Given the description of an element on the screen output the (x, y) to click on. 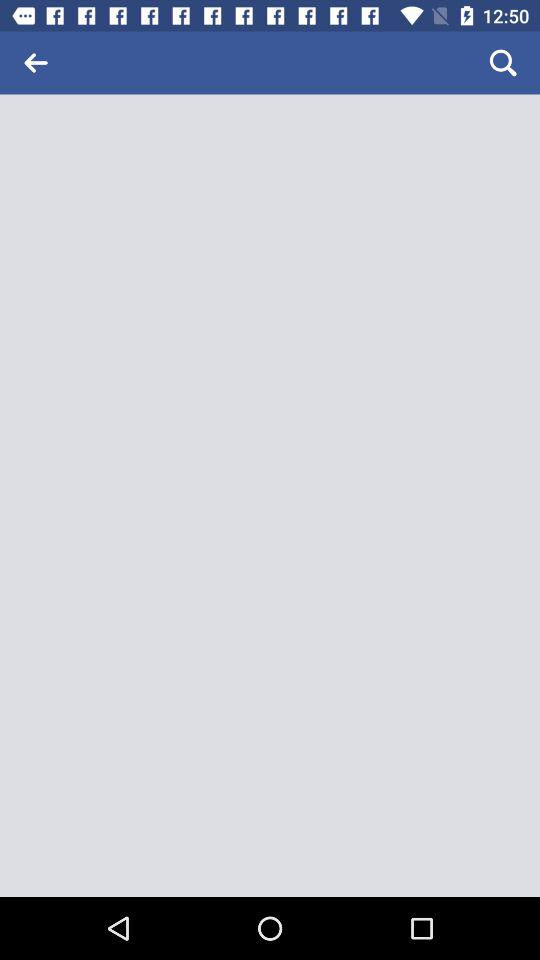
open item at the top left corner (36, 62)
